Given the description of an element on the screen output the (x, y) to click on. 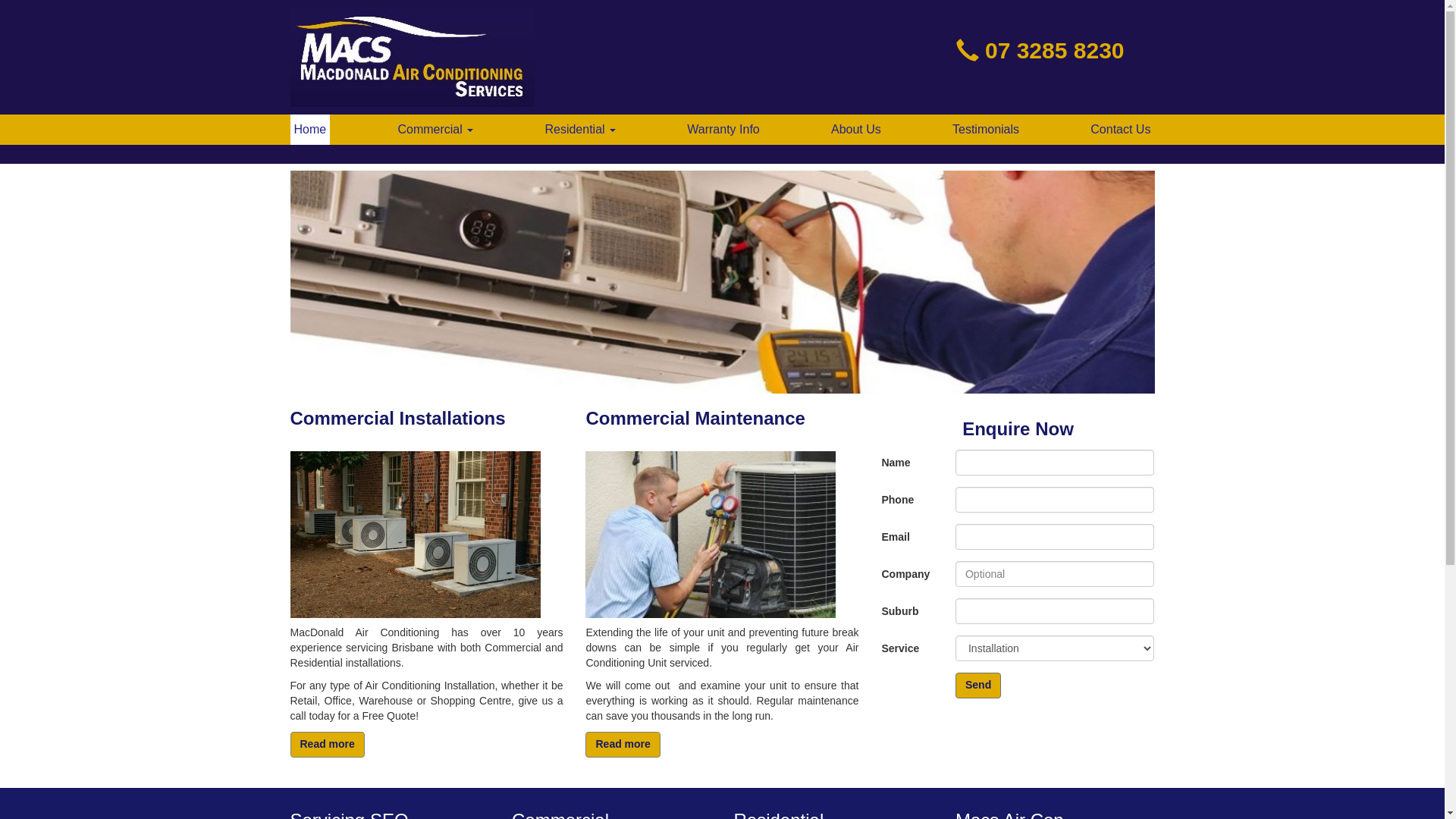
Contact Us Element type: text (1120, 129)
Residential Element type: text (579, 129)
Send Element type: text (978, 685)
Read more Element type: text (326, 744)
Macs Air Con Logo Element type: hover (411, 56)
About Us Element type: text (855, 129)
Warranty Info Element type: text (722, 129)
Testimonials Element type: text (985, 129)
Read more Element type: text (622, 744)
07 3285 8230 Element type: text (1054, 49)
Commercial Element type: text (434, 129)
Home Element type: text (309, 129)
